Given the description of an element on the screen output the (x, y) to click on. 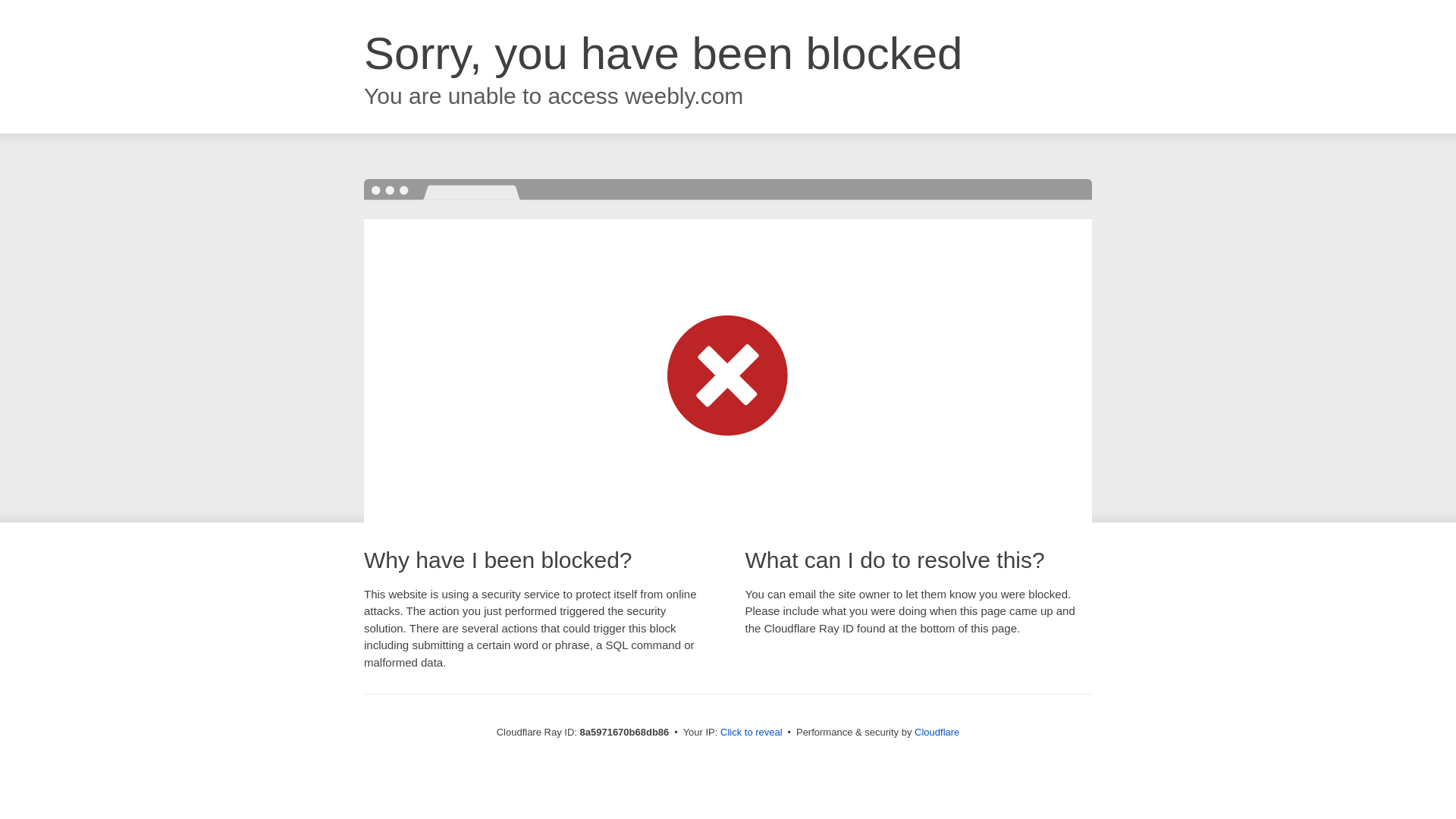
Click to reveal (751, 732)
Cloudflare (936, 731)
